Given the description of an element on the screen output the (x, y) to click on. 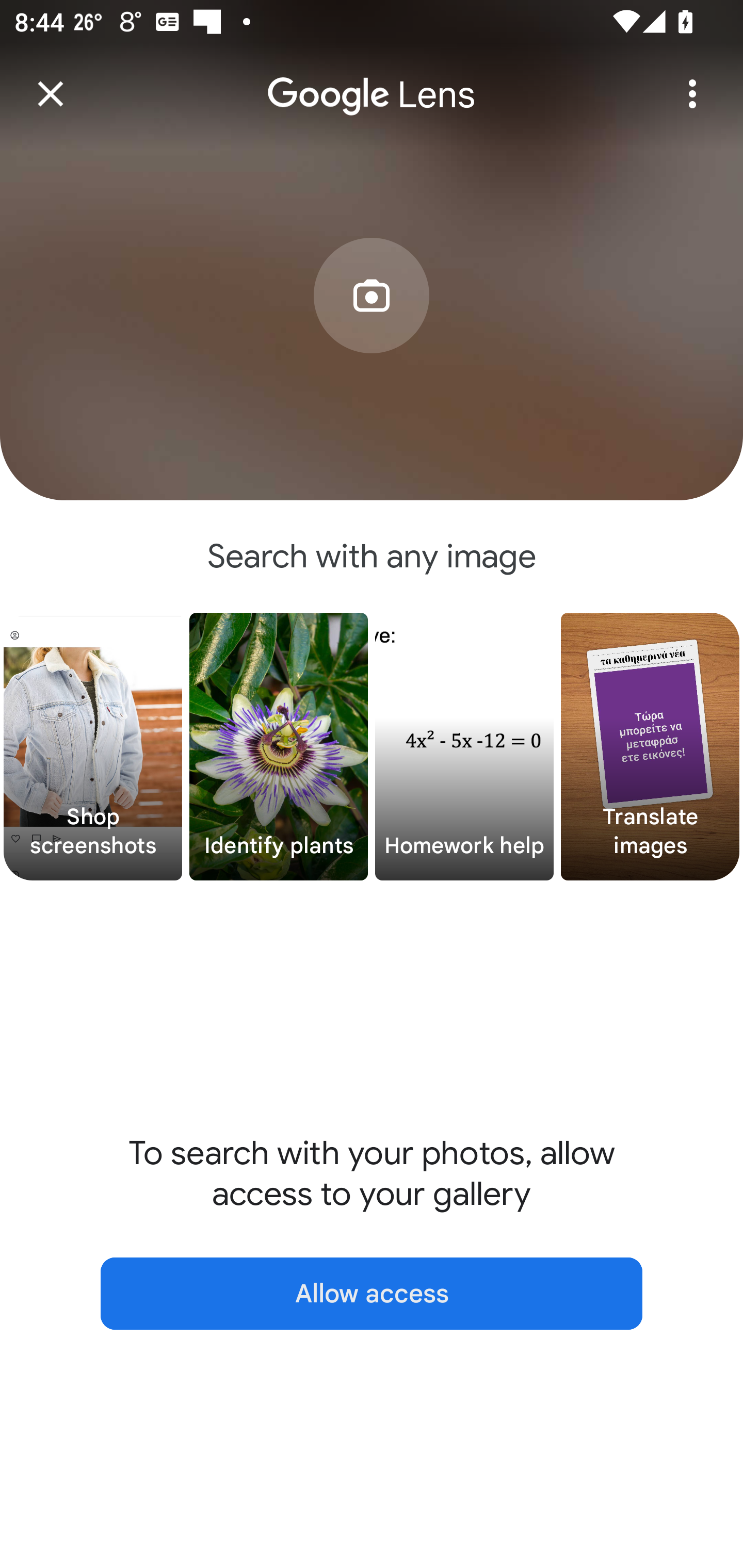
Google Lens Lens (371, 80)
Close (50, 94)
More options (692, 94)
Search with your camera (371, 326)
Shop screenshots (92, 747)
Identify plants (278, 747)
Homework help (464, 747)
Translate images (649, 747)
Allow access (371, 1293)
